Given the description of an element on the screen output the (x, y) to click on. 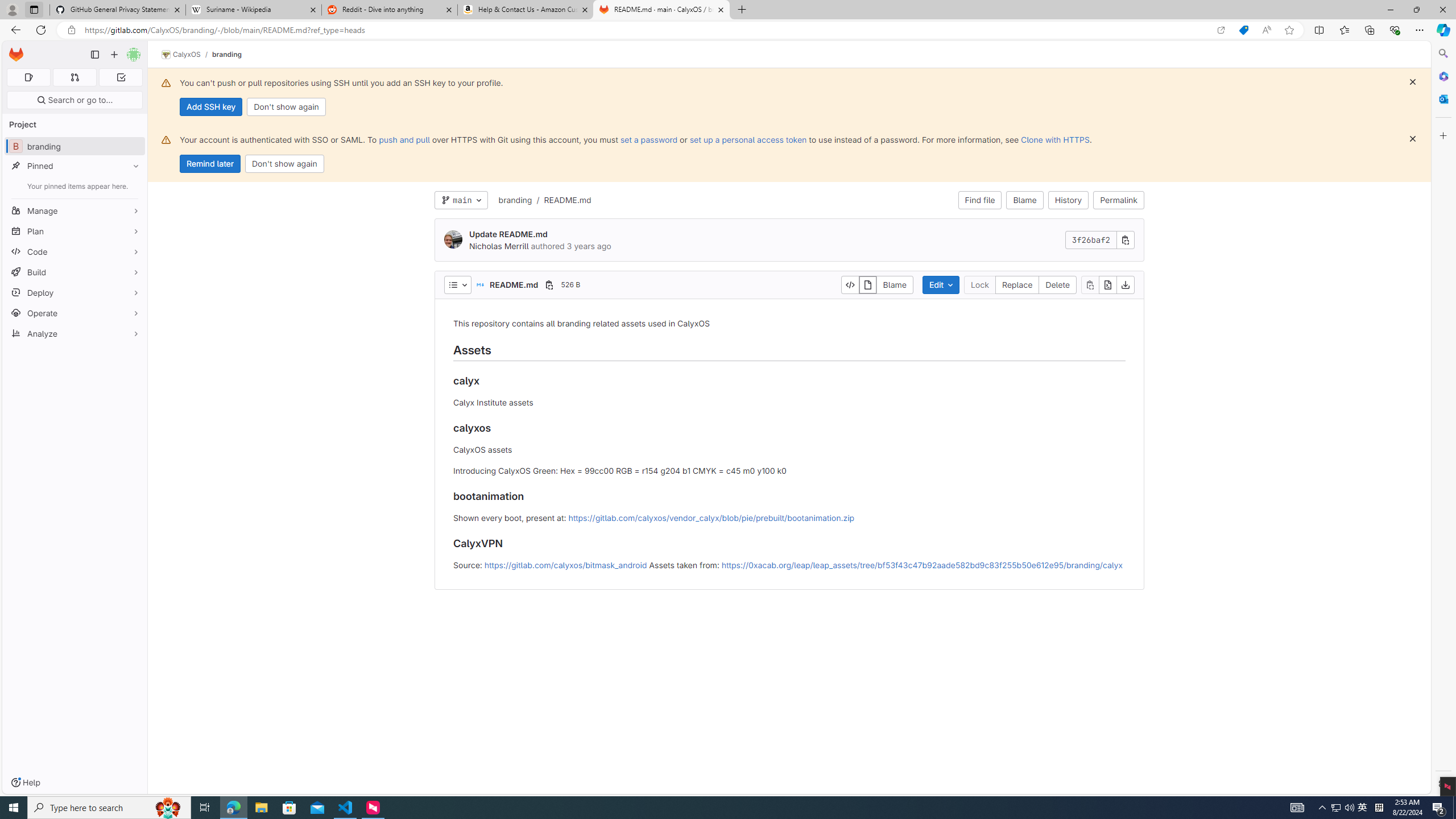
Delete (1056, 285)
Display rendered file (866, 285)
Edit (940, 285)
Dismiss (1412, 138)
GitHub General Privacy Statement - GitHub Docs (117, 9)
Permalink (1118, 199)
Operate (74, 312)
